Given the description of an element on the screen output the (x, y) to click on. 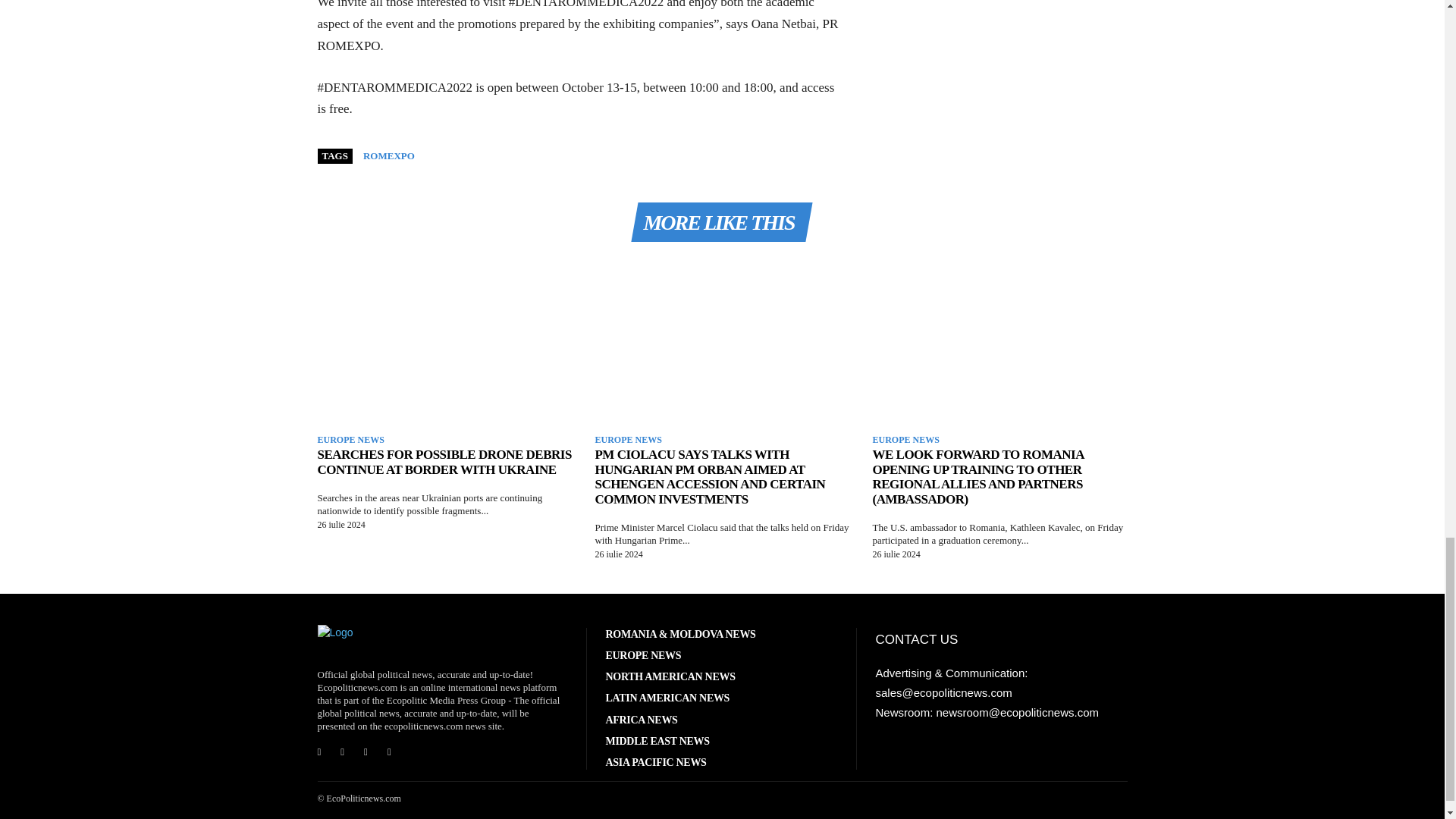
ROMEXPO (388, 155)
